Given the description of an element on the screen output the (x, y) to click on. 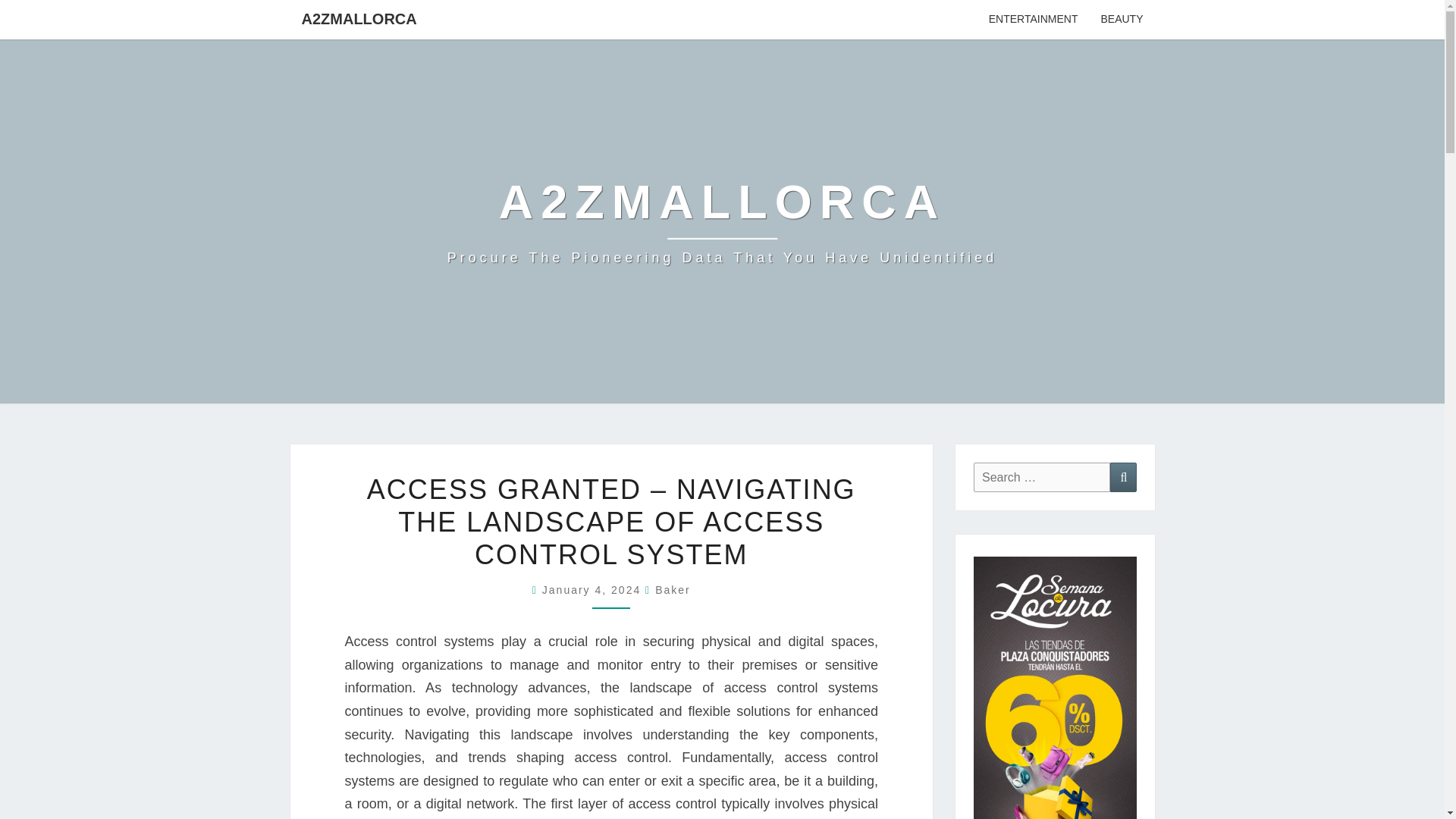
A2ZMALLORCA (358, 18)
ENTERTAINMENT (1032, 19)
5:49 am (593, 589)
A2zmallorca (721, 221)
Search (1123, 477)
BEAUTY (1121, 19)
View all posts by Baker (672, 589)
January 4, 2024 (593, 589)
Search for: (1041, 477)
